Given the description of an element on the screen output the (x, y) to click on. 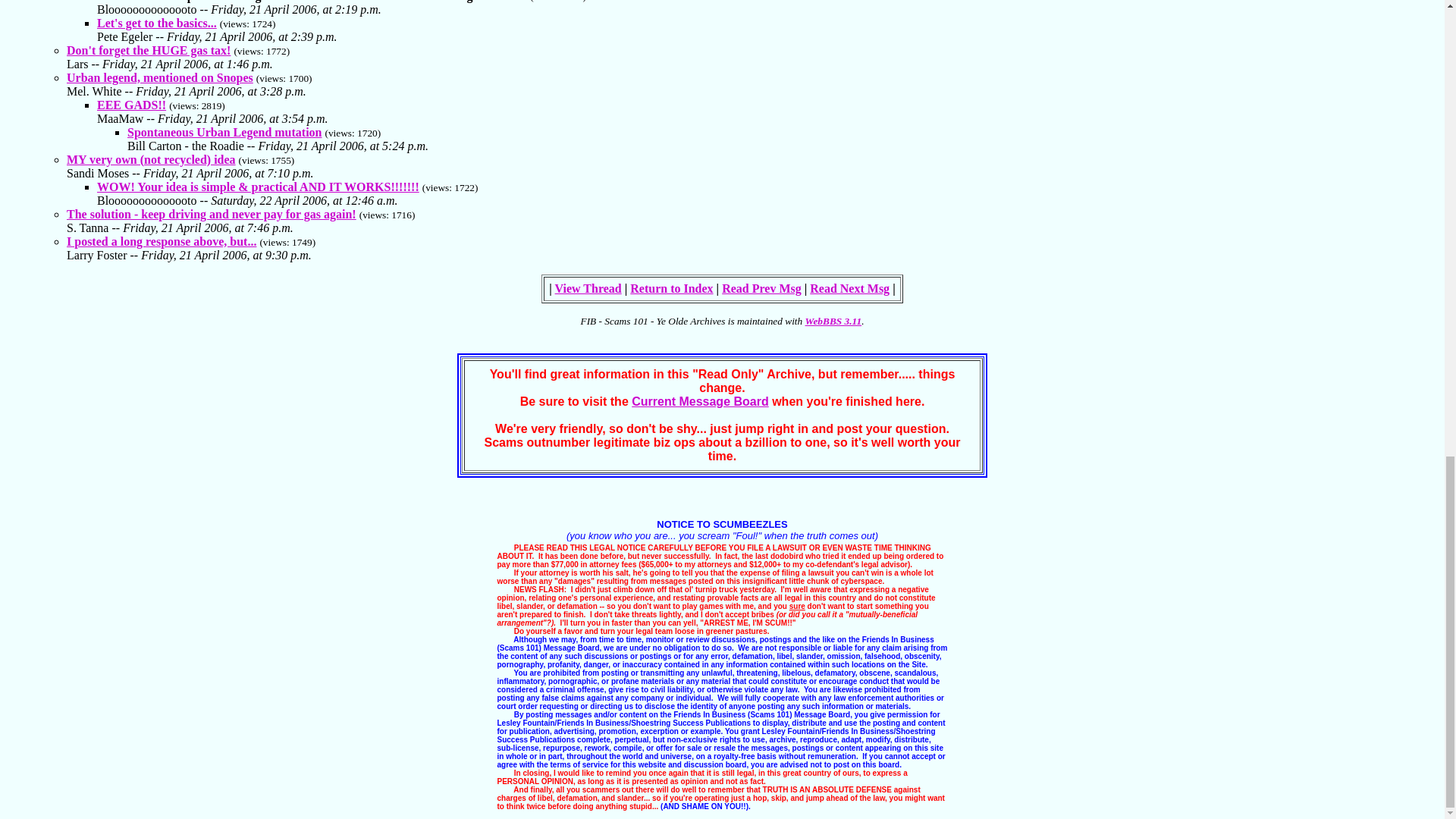
View Thread (587, 287)
Don't forget the HUGE gas tax! (148, 50)
Return to Index (671, 287)
EEE GADS!! (131, 104)
Read Next Msg (849, 287)
WebBBS 3.11 (833, 320)
Read Prev Msg (762, 287)
I posted a long response above, but... (161, 241)
Urban legend, mentioned on Snopes (159, 77)
Current Message Board (699, 400)
